Given the description of an element on the screen output the (x, y) to click on. 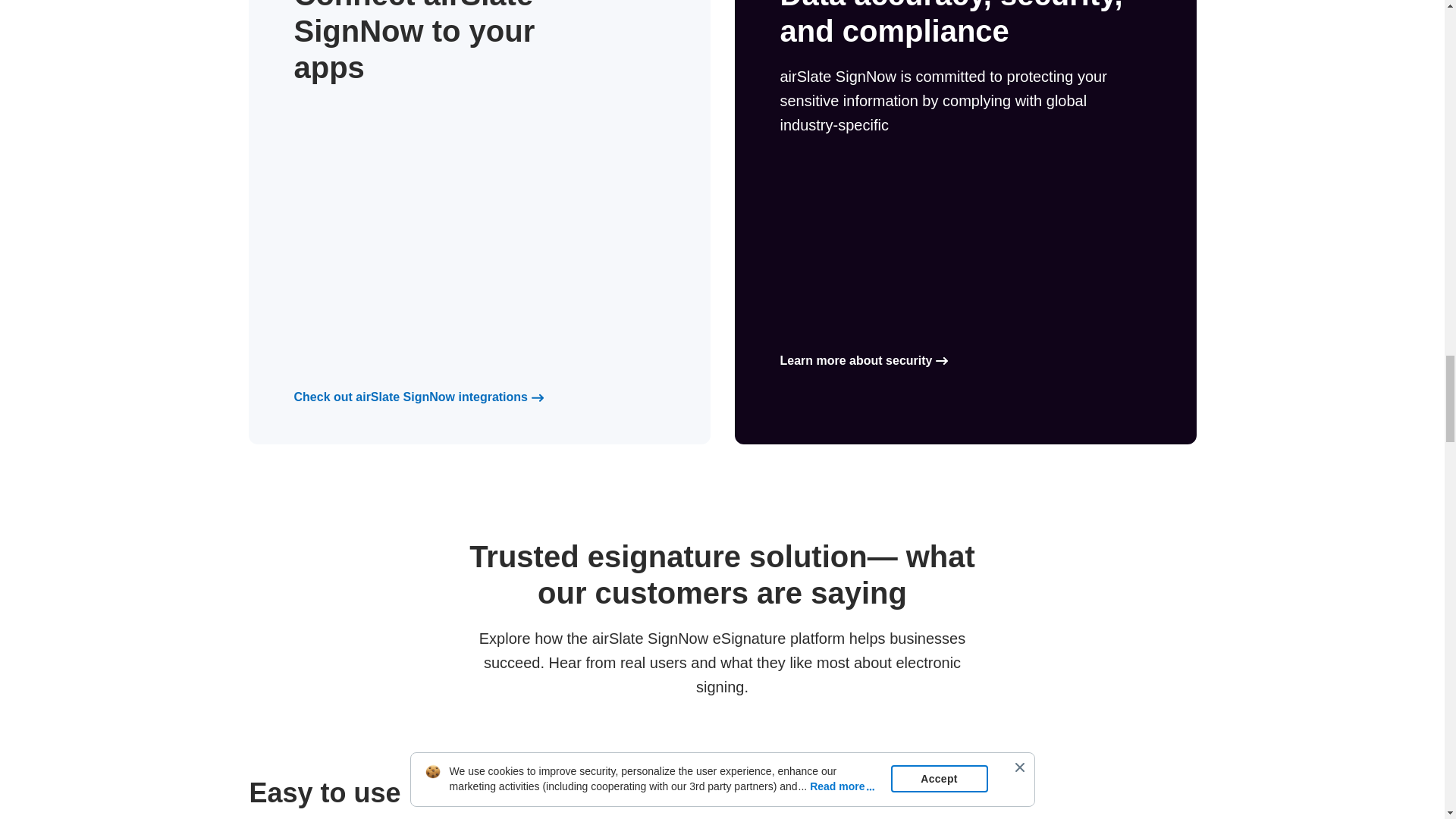
go to signNow integrations (411, 396)
